Given the description of an element on the screen output the (x, y) to click on. 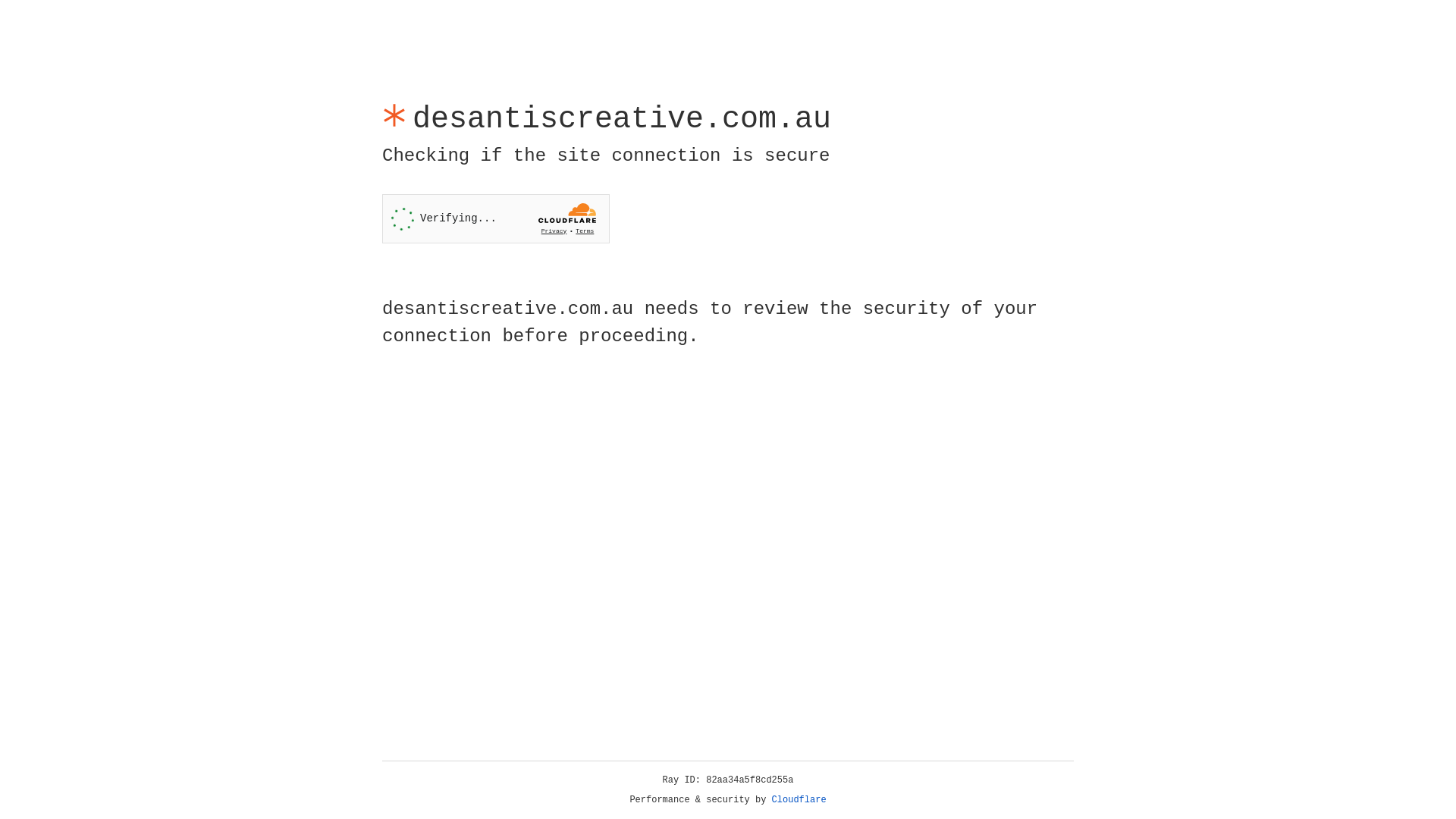
Widget containing a Cloudflare security challenge Element type: hover (495, 218)
Cloudflare Element type: text (798, 799)
